Given the description of an element on the screen output the (x, y) to click on. 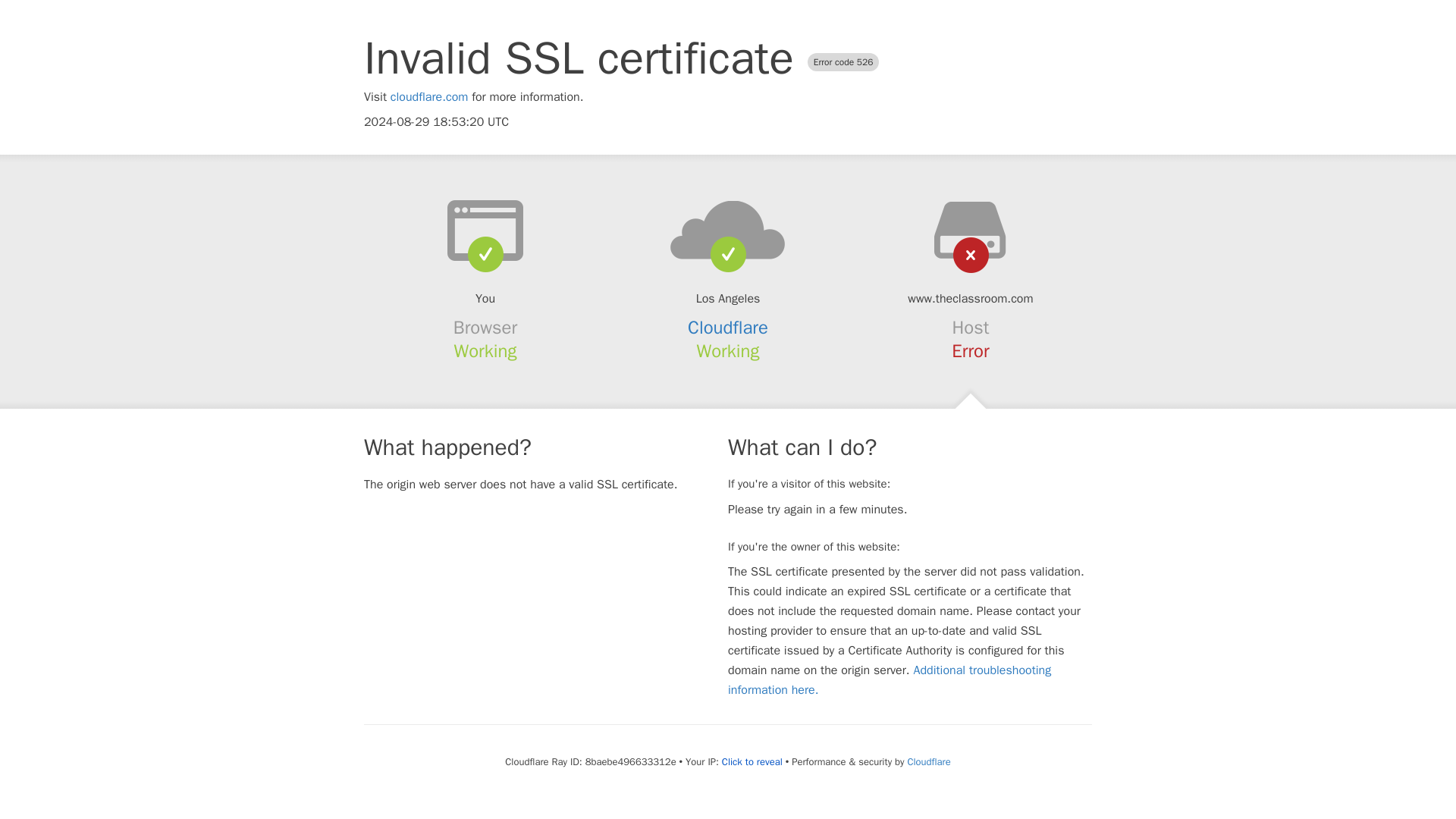
Cloudflare (727, 327)
Additional troubleshooting information here. (889, 679)
cloudflare.com (429, 96)
Click to reveal (752, 762)
Cloudflare (928, 761)
